Given the description of an element on the screen output the (x, y) to click on. 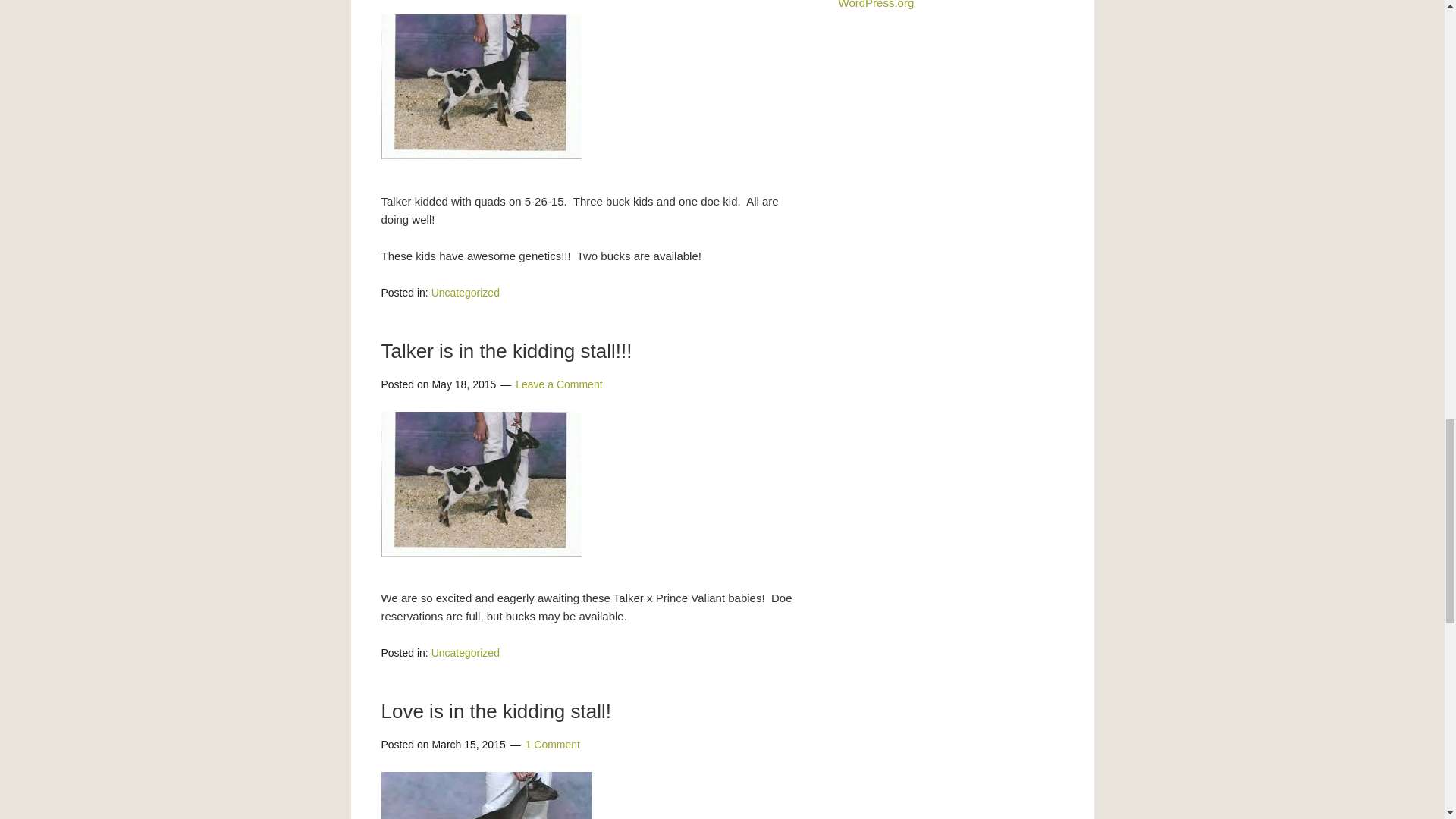
Sunday, March 15, 2015, 9:31 pm (467, 744)
Monday, May 18, 2015, 2:14 pm (463, 384)
Uncategorized (464, 653)
Talker is in the kidding stall!!! (505, 350)
Love is in the kidding stall! (495, 711)
1 Comment (552, 744)
Uncategorized (464, 292)
Leave a Comment (558, 384)
